Given the description of an element on the screen output the (x, y) to click on. 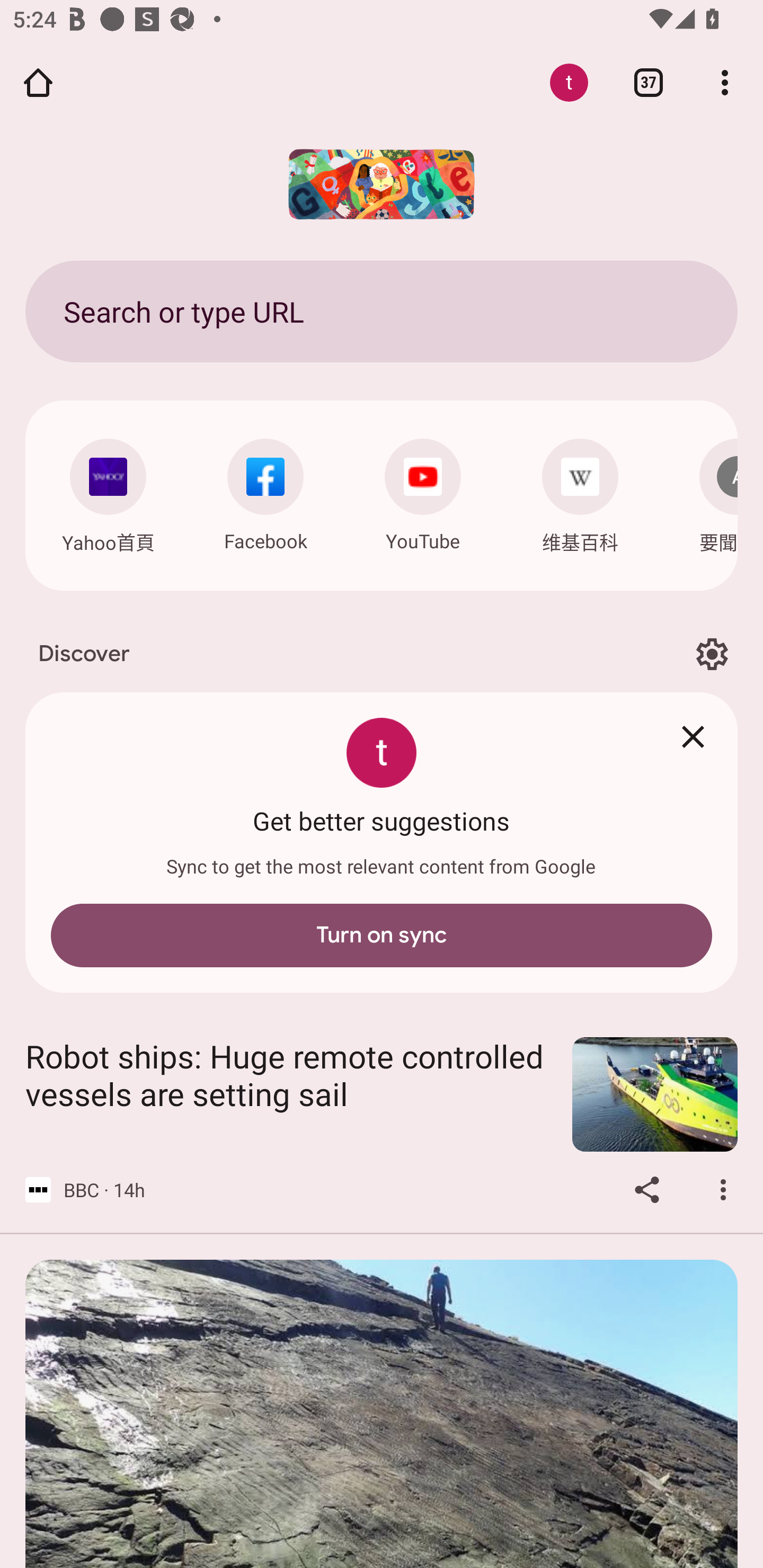
Open the home page (38, 82)
Switch or close tabs (648, 82)
Customize and control Google Chrome (724, 82)
Google doodle: 2024 年国际妇女节 (381, 183)
Search or type URL (381, 311)
Navigate: Yahoo首頁: hk.mobi.yahoo.com Yahoo首頁 (107, 491)
Navigate: Facebook: m.facebook.com Facebook (265, 490)
Navigate: YouTube: m.youtube.com YouTube (422, 490)
Navigate: 维基百科: zh.m.wikipedia.org 维基百科 (579, 491)
Options for Discover (711, 654)
Close (692, 736)
Turn on sync (381, 934)
